Given the description of an element on the screen output the (x, y) to click on. 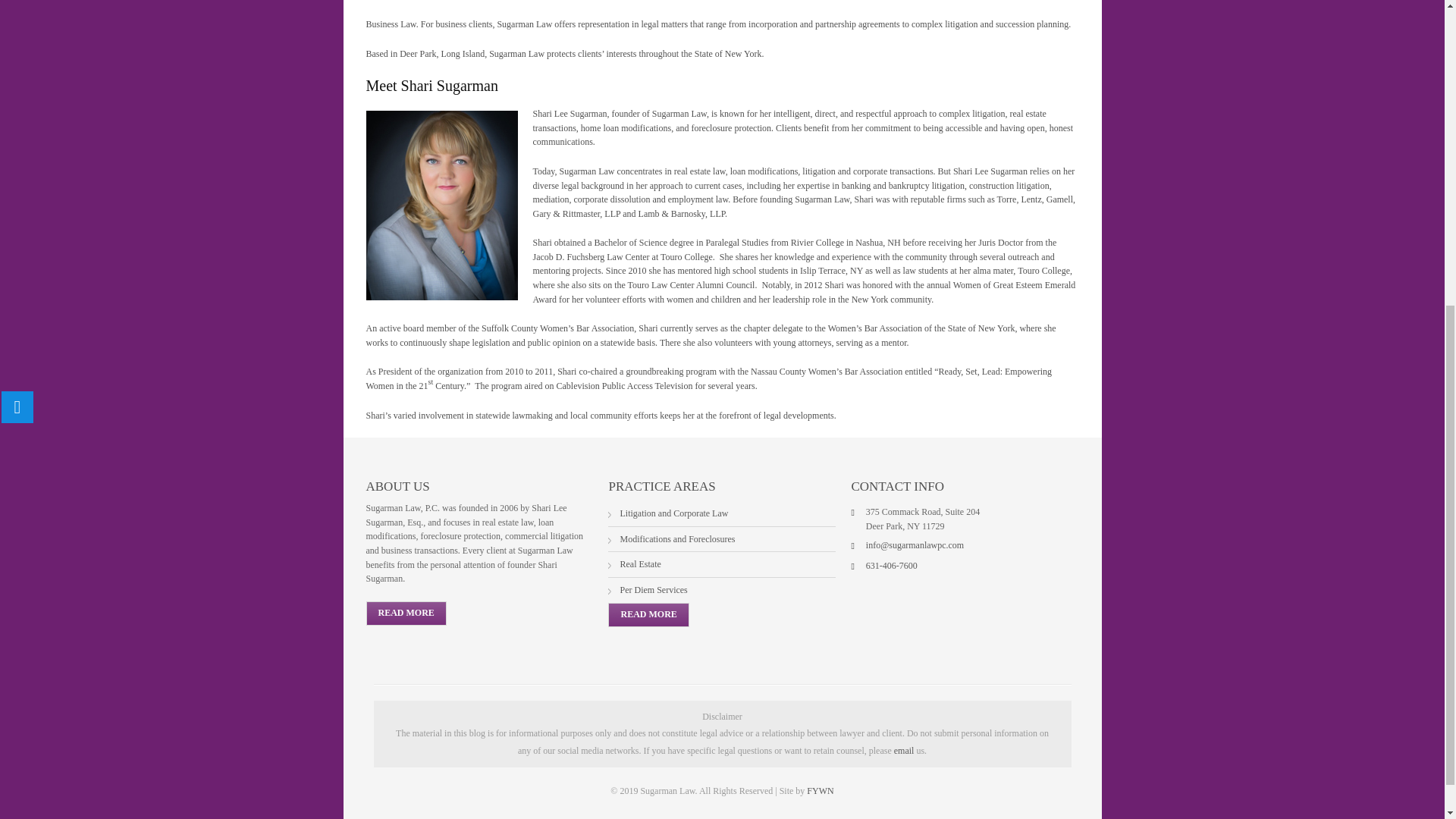
READ MORE (648, 614)
631-406-7600 (891, 565)
FYWN (819, 790)
Litigation and Corporate Law (674, 512)
Real Estate (640, 563)
Per Diem Services (653, 589)
READ MORE (405, 613)
Modifications and Foreclosures (677, 538)
email (903, 750)
